Given the description of an element on the screen output the (x, y) to click on. 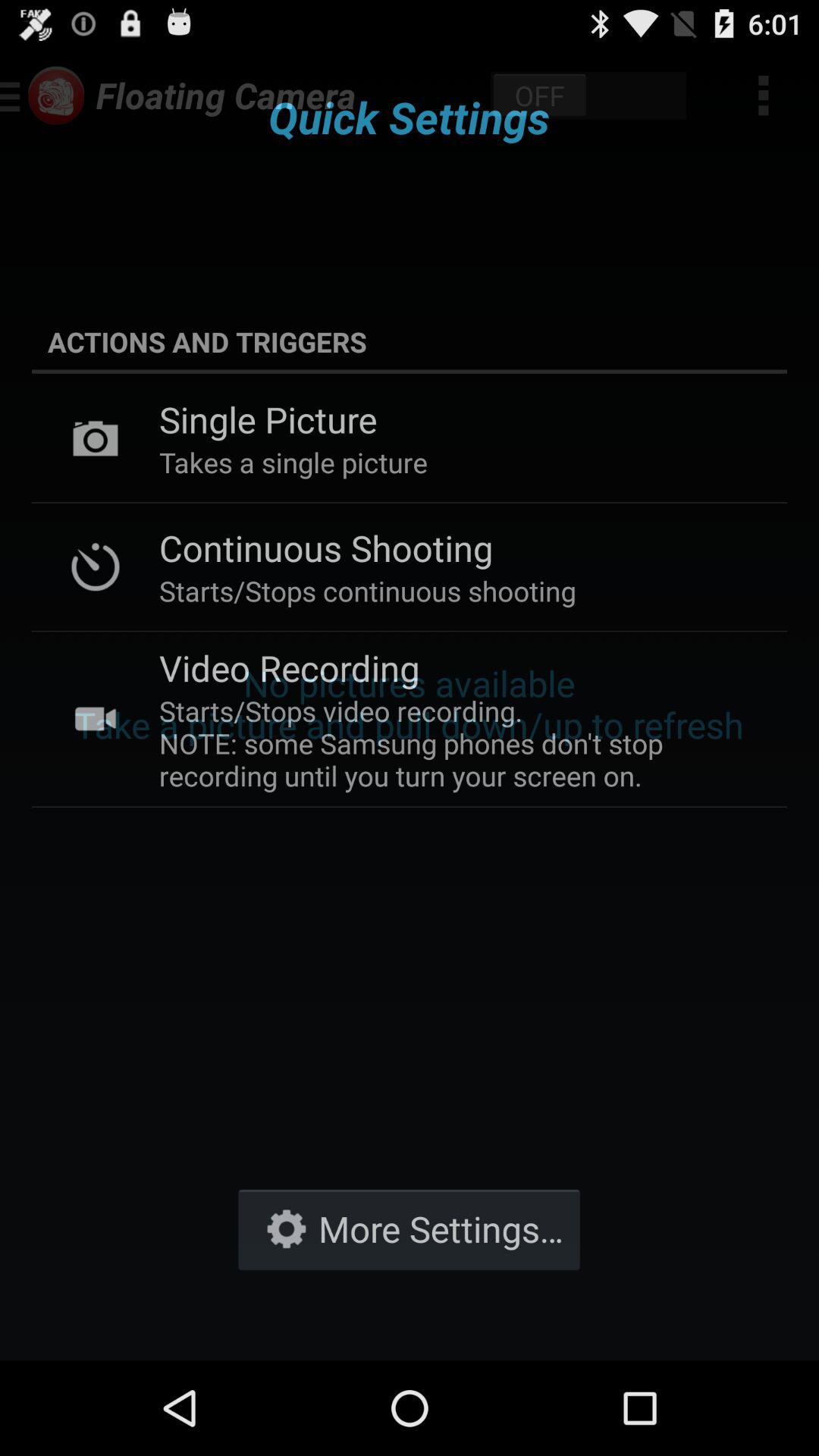
press the takes a single (293, 462)
